Given the description of an element on the screen output the (x, y) to click on. 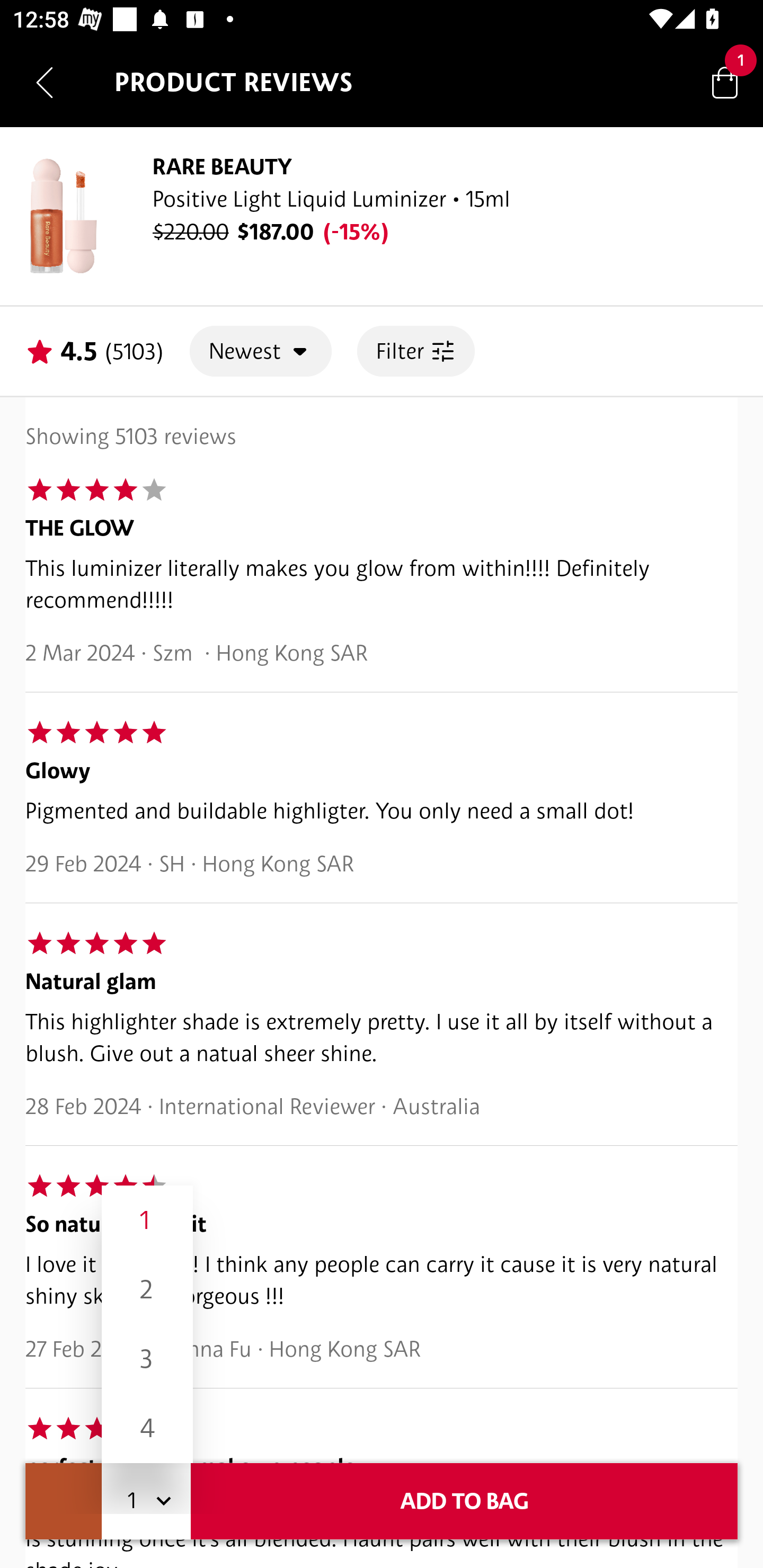
1 (147, 1219)
2 (147, 1289)
3 (147, 1358)
4 (147, 1427)
